Given the description of an element on the screen output the (x, y) to click on. 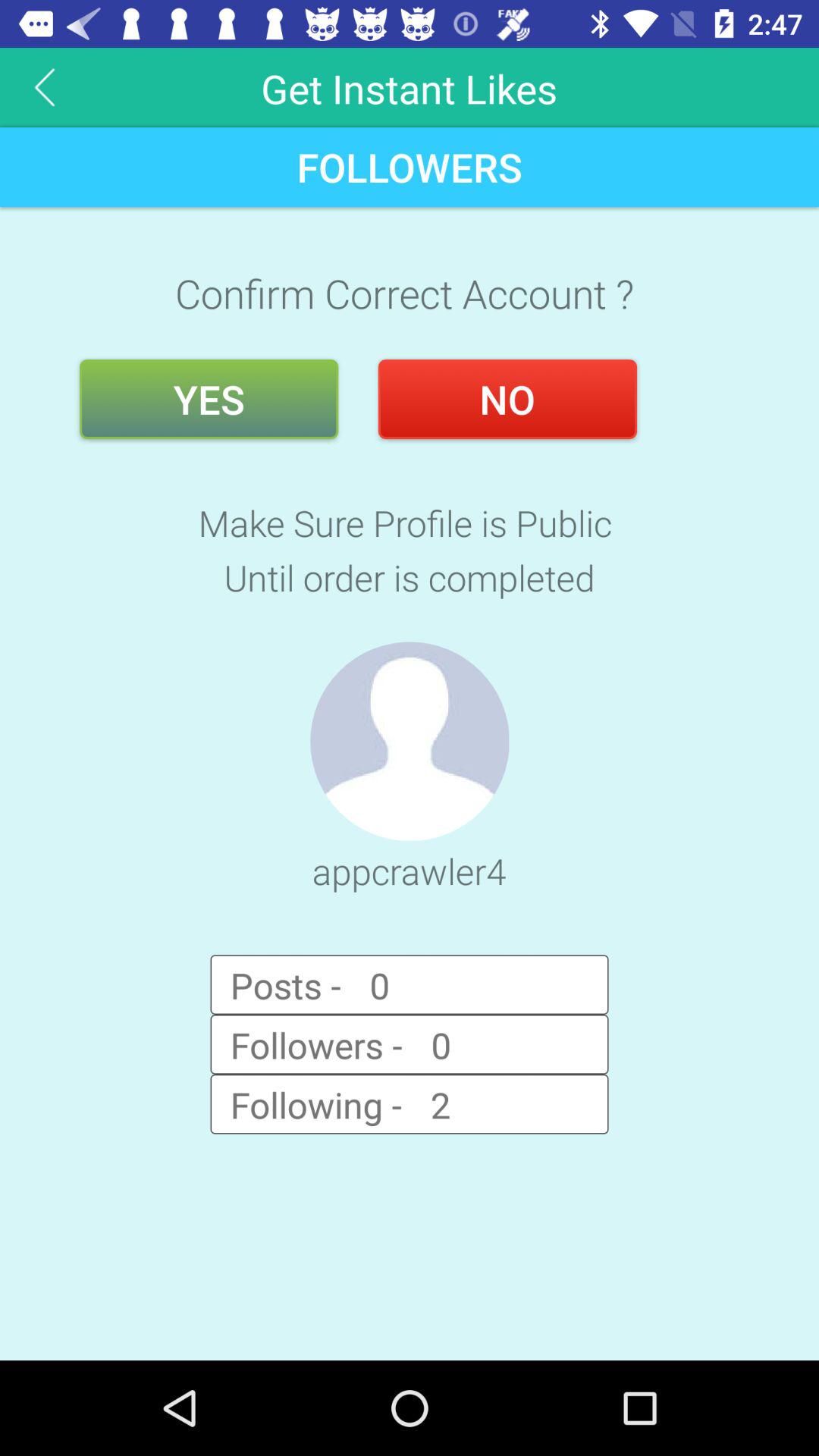
choose icon next to the get instant likes item (44, 87)
